Given the description of an element on the screen output the (x, y) to click on. 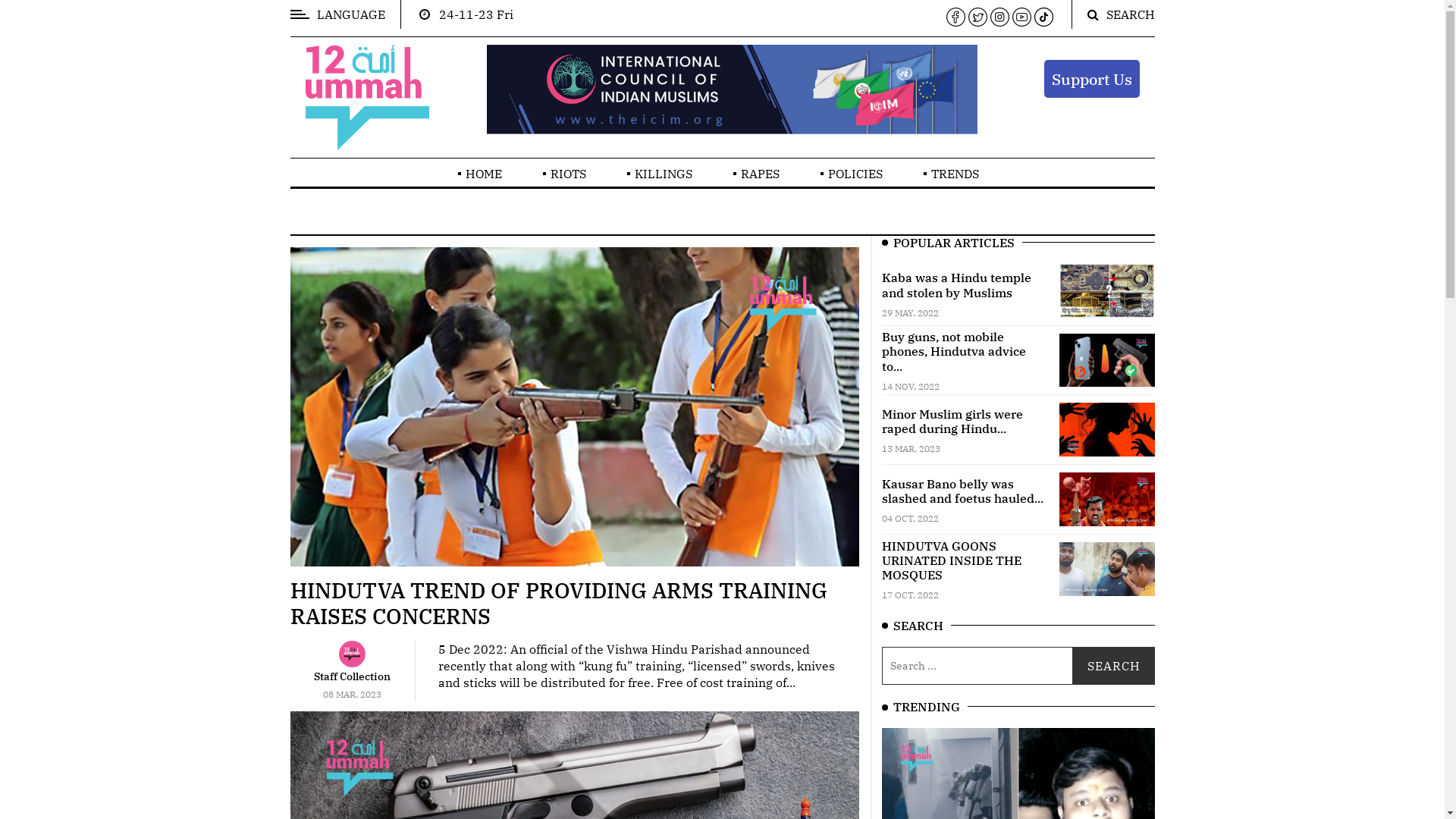
Support Us Element type: text (1091, 78)
TRENDS Element type: text (955, 173)
HOME Element type: text (483, 173)
Kausar Bano belly was slashed and foetus hauled... Element type: text (961, 490)
Search Element type: text (1113, 665)
Minor Muslim girls were raped during Hindu... Element type: text (951, 421)
HINDUTVA GOONS URINATED INSIDE THE MOSQUES Element type: text (950, 560)
Buy guns, not mobile phones, Hindutva advice to... Element type: text (953, 351)
KILLINGS Element type: text (663, 173)
POLICIES Element type: text (855, 173)
RIOTS Element type: text (568, 173)
Kaba was a Hindu temple and stolen by Muslims Element type: text (955, 284)
HINDUTVA TREND OF PROVIDING ARMS TRAINING RAISES CONCERNS Element type: text (557, 603)
Support Us Element type: text (1091, 78)
RAPES Element type: text (759, 173)
Staff Collection Element type: text (351, 676)
